Given the description of an element on the screen output the (x, y) to click on. 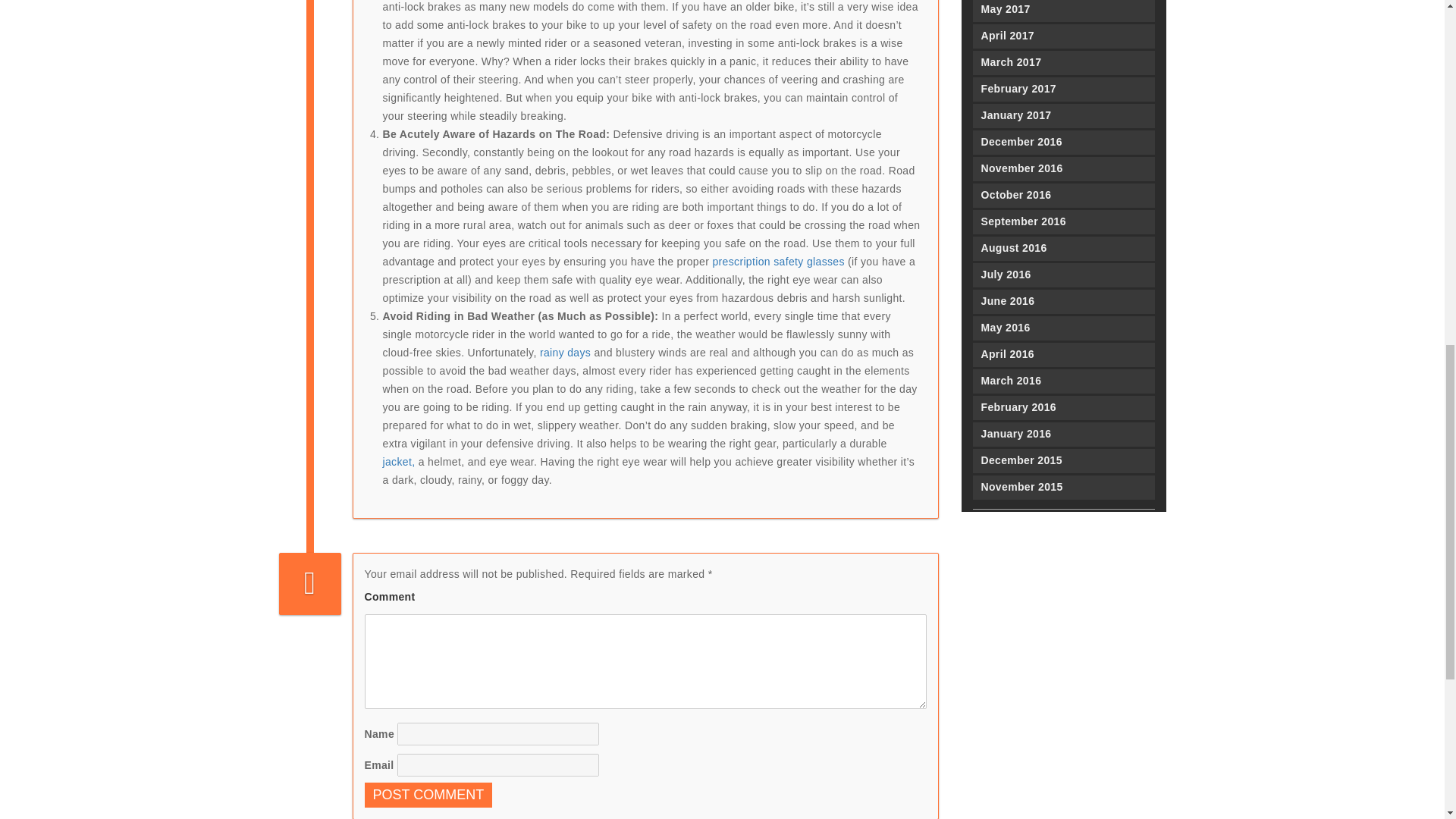
January 2017 (1063, 115)
February 2017 (1063, 88)
October 2016 (1063, 195)
May 2016 (1063, 328)
September 2016 (1063, 221)
July 2016 (1063, 274)
June 2016 (1063, 301)
Post Comment (428, 794)
August 2016 (1063, 248)
May 2017 (1063, 11)
December 2016 (1063, 142)
March 2017 (1063, 62)
November 2016 (1063, 168)
April 2017 (1063, 36)
